Given the description of an element on the screen output the (x, y) to click on. 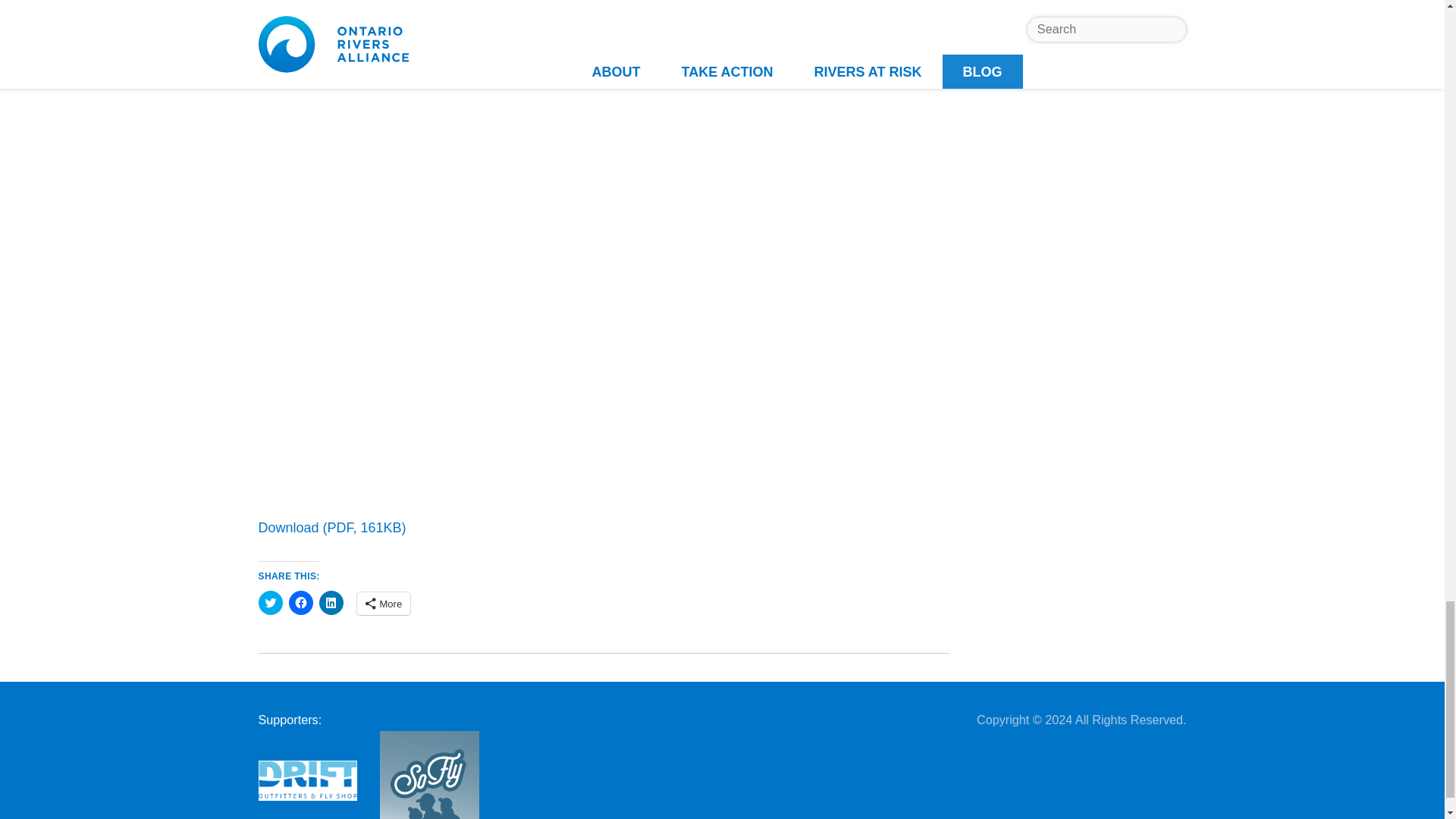
Click to share on LinkedIn (330, 602)
Click to share on Twitter (269, 602)
Click to share on Facebook (300, 602)
